Given the description of an element on the screen output the (x, y) to click on. 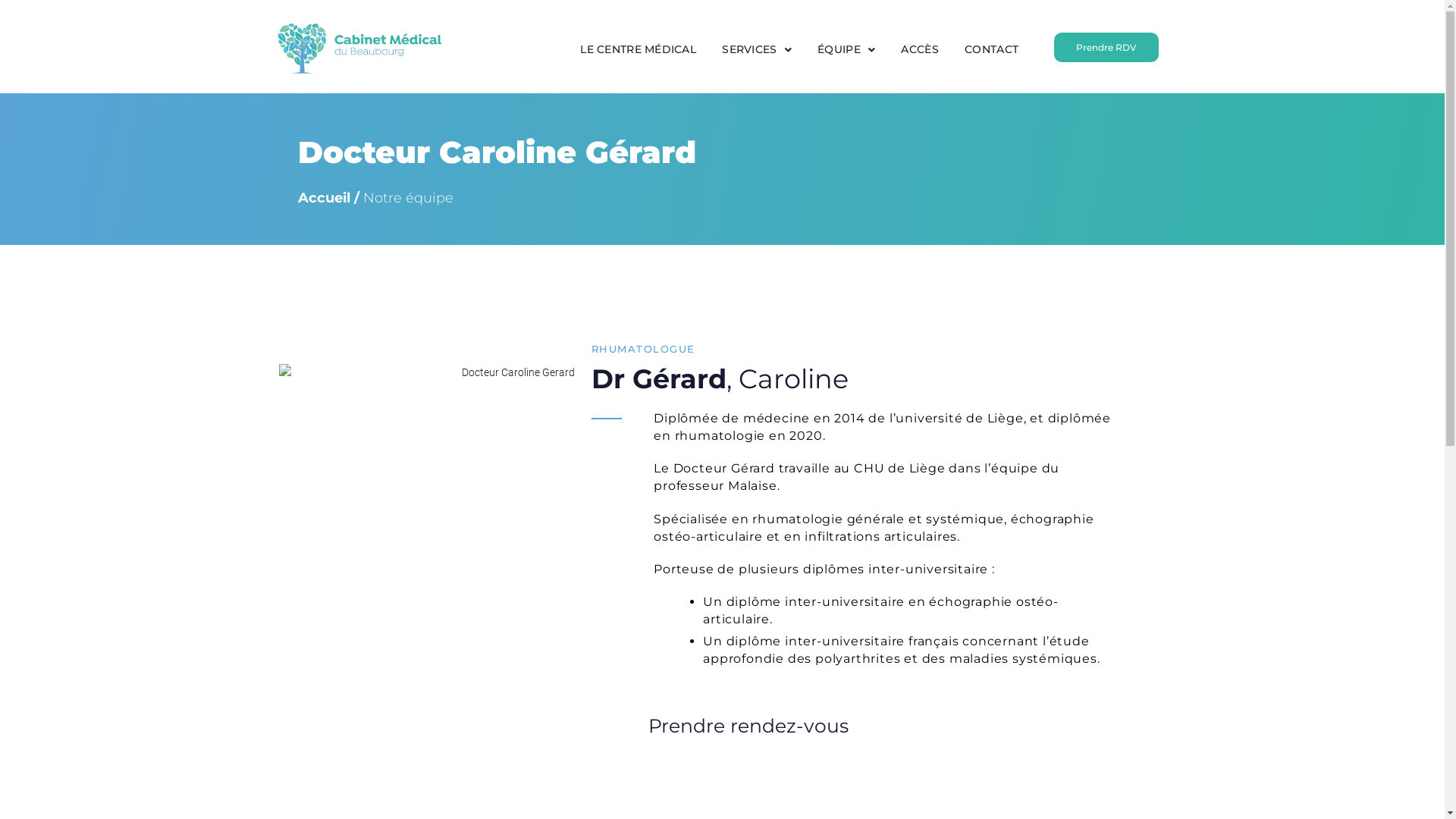
SERVICES Element type: text (756, 49)
CONTACT Element type: text (991, 49)
Prendre RDV Element type: text (1106, 47)
